Given the description of an element on the screen output the (x, y) to click on. 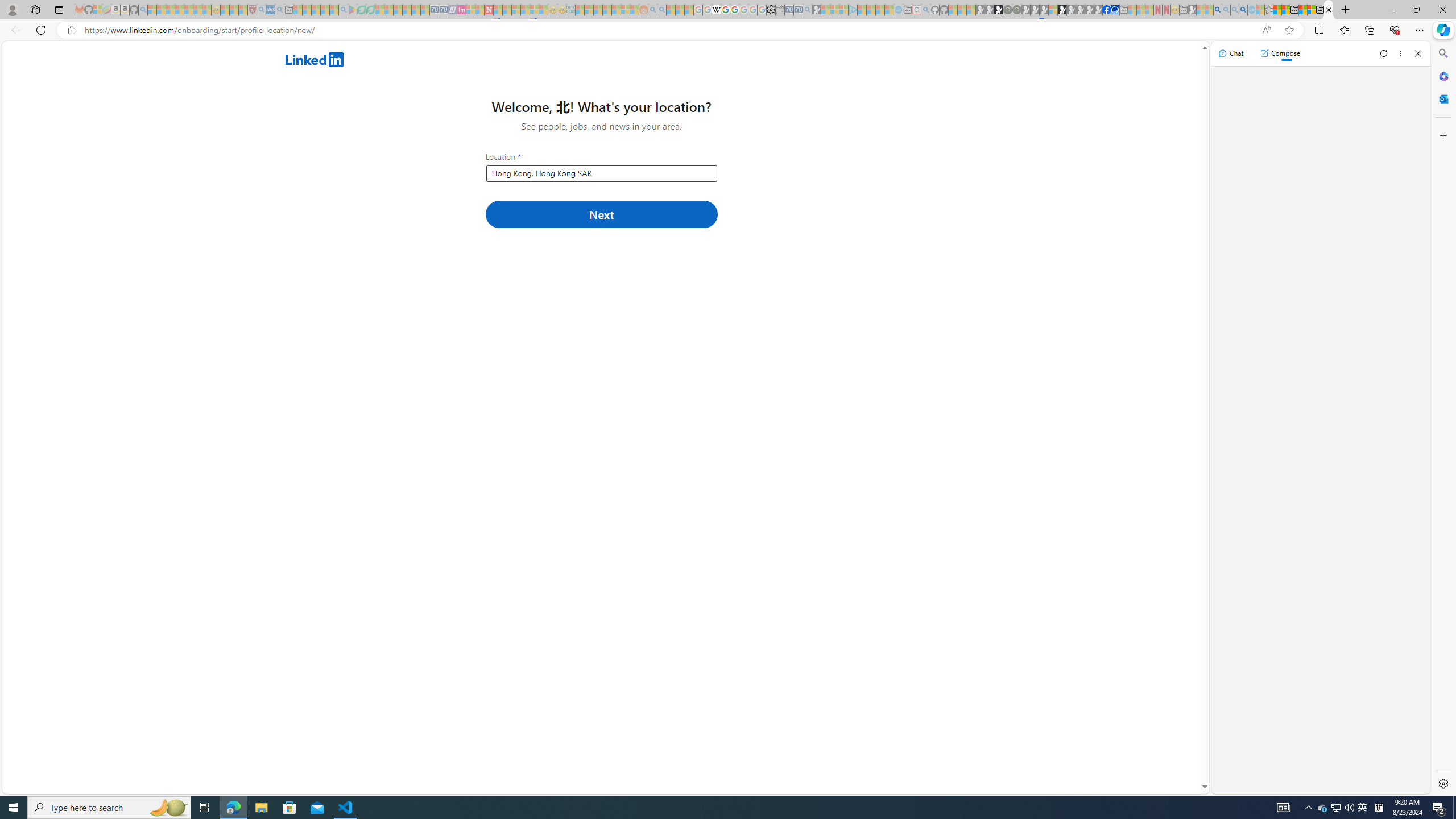
Bing Real Estate - Home sales and rental listings - Sleeping (806, 9)
Privacy Help Center - Policies Help (725, 9)
Utah sues federal government - Search - Sleeping (661, 9)
Chat (1230, 52)
Cheap Hotels - Save70.com - Sleeping (442, 9)
Bing AI - Search (1217, 9)
